Given the description of an element on the screen output the (x, y) to click on. 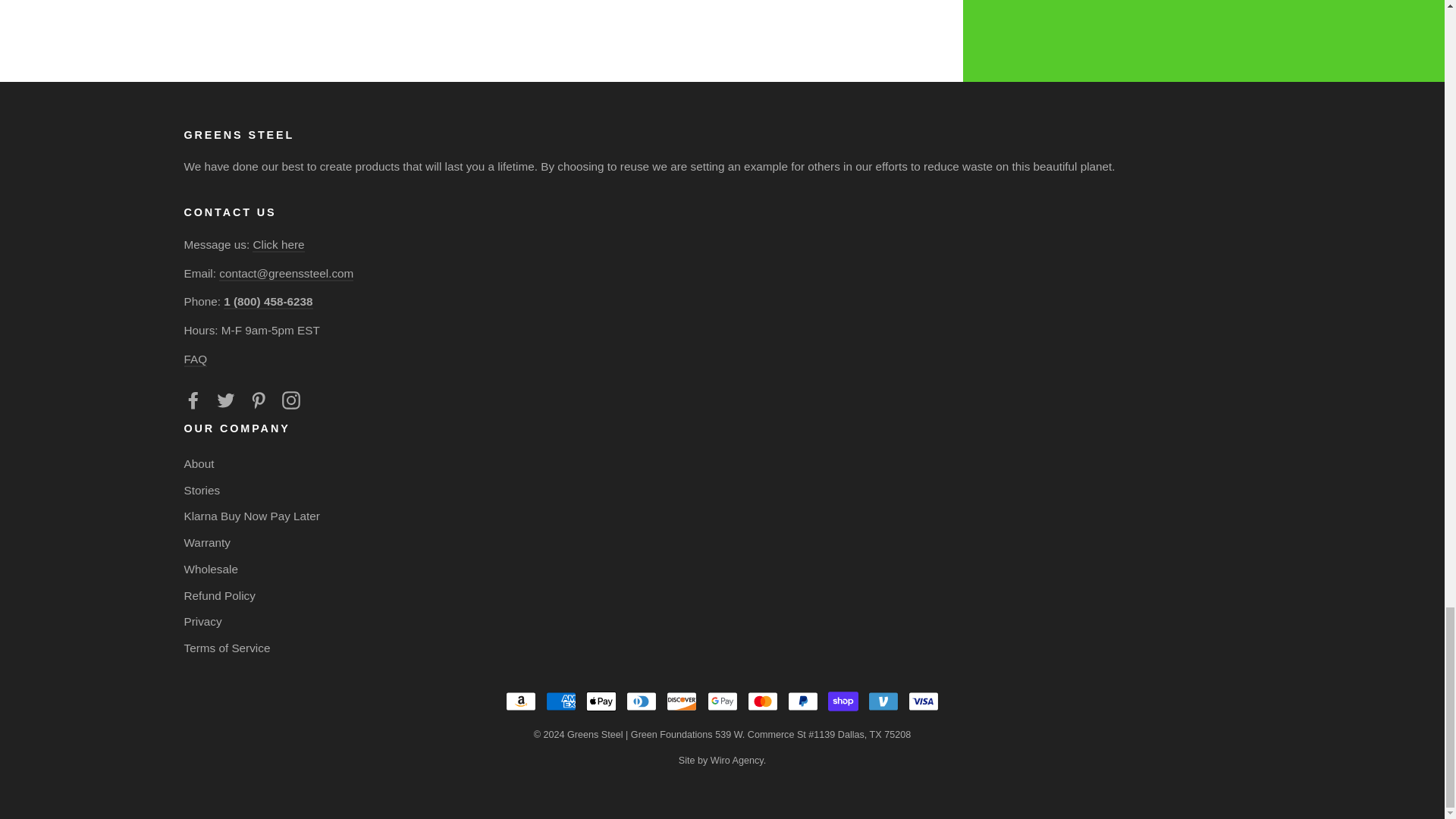
Greens Steel on Twitter (225, 400)
Greens Steel on Facebook (192, 400)
FAQ (194, 359)
Contact Us (277, 245)
Greens Steel on Instagram (290, 400)
Site by Wiro Agency (720, 760)
Greens Steel on Pinterest (257, 400)
